Given the description of an element on the screen output the (x, y) to click on. 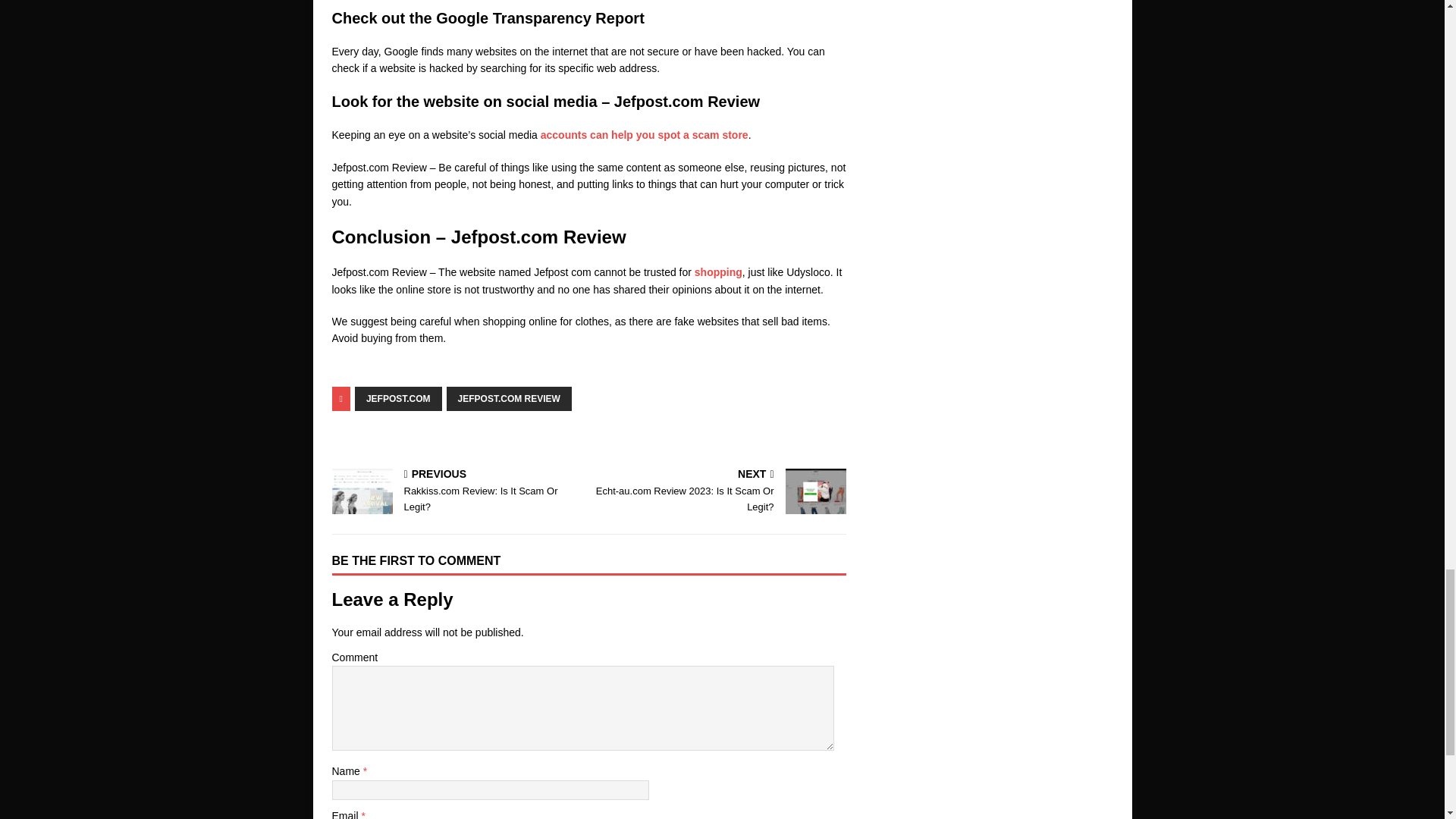
JEFPOST.COM (398, 398)
Rakkiss.com Review: Is It Scam Or Legit? 1 (362, 491)
accounts can help you spot a scam store (720, 491)
JEFPOST.COM REVIEW (644, 134)
Echt-au.com Review 2023: Is It Scam Or Legit? 2 (457, 491)
shopping (509, 398)
